Given the description of an element on the screen output the (x, y) to click on. 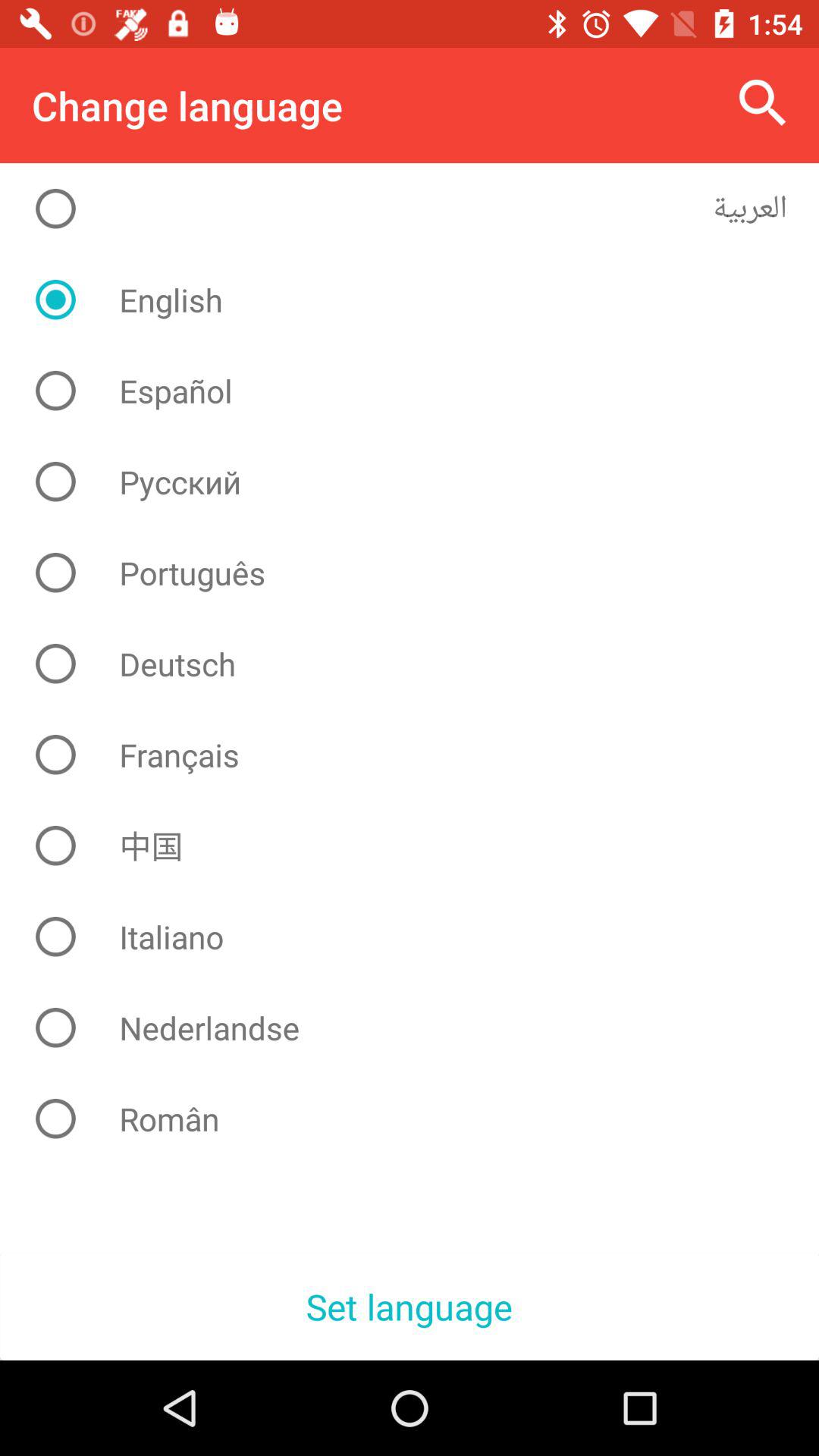
scroll to the italiano (421, 936)
